Given the description of an element on the screen output the (x, y) to click on. 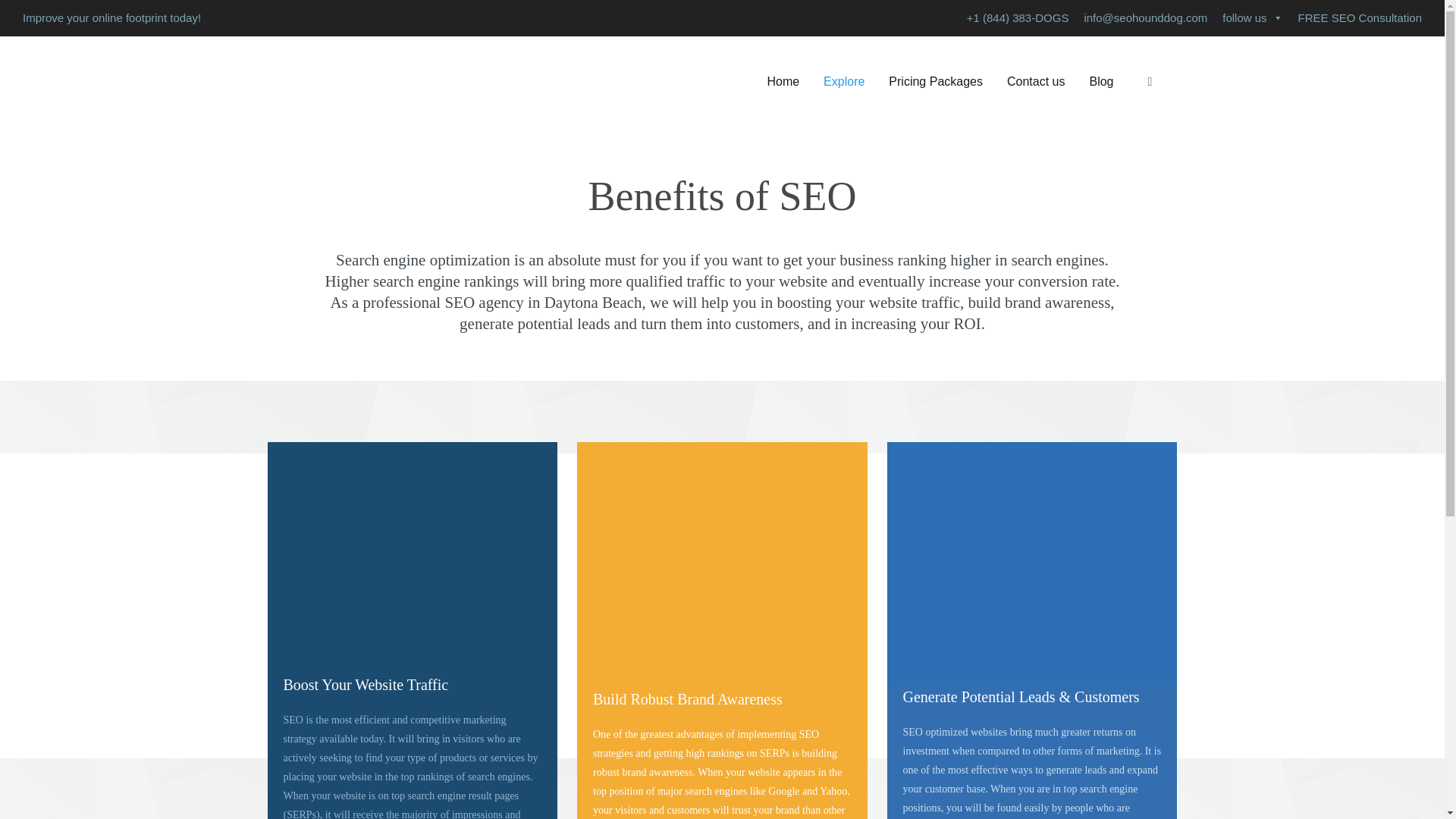
Contact us (1035, 81)
Search (13, 14)
Blog (1101, 81)
Pricing Packages (935, 81)
Improve your online footprint today! (111, 18)
FREE SEO Consultation (1359, 18)
Home (782, 81)
follow us (1252, 18)
